Given the description of an element on the screen output the (x, y) to click on. 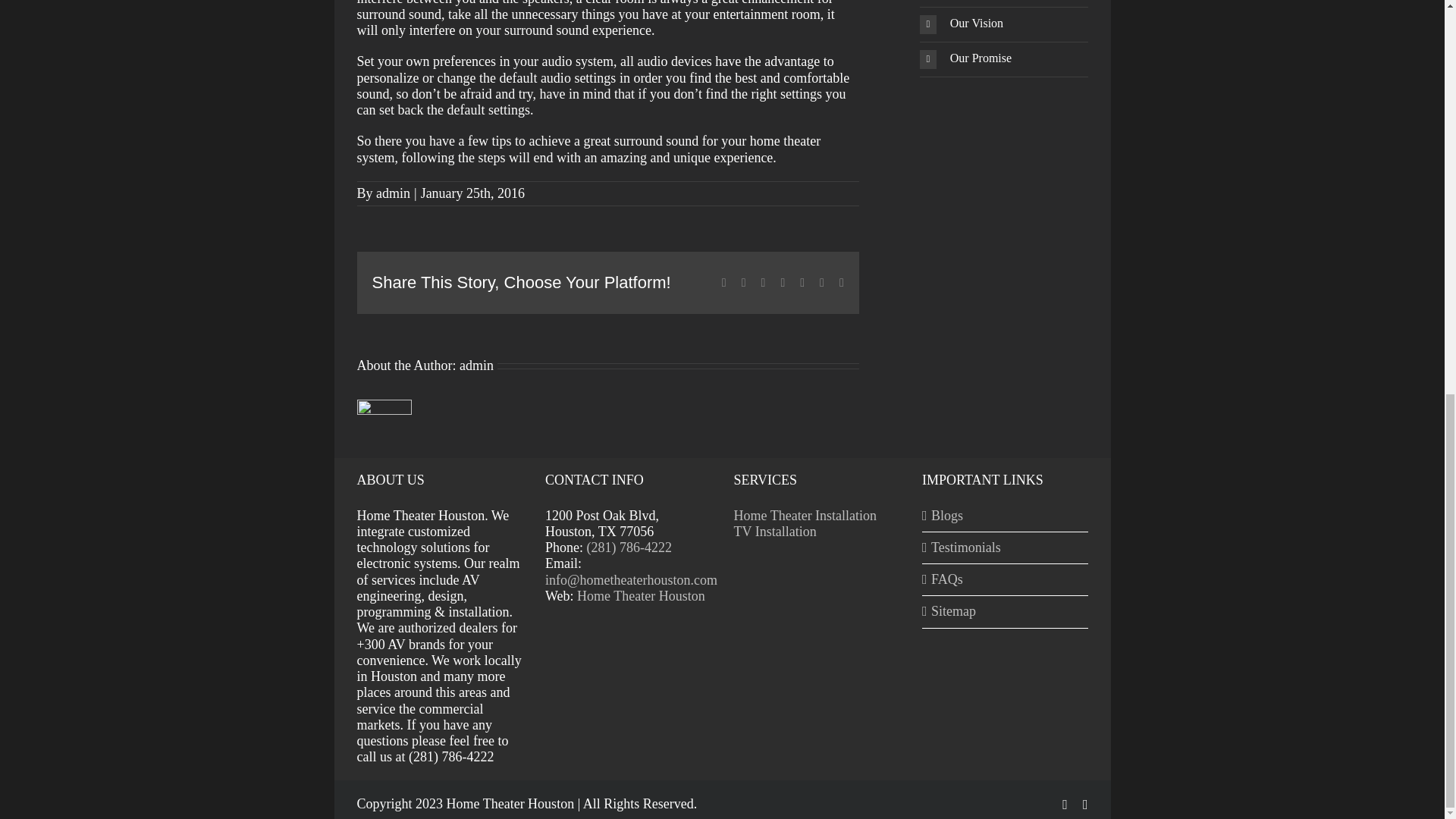
Posts by admin (476, 365)
Posts by admin (392, 192)
admin (392, 192)
